Given the description of an element on the screen output the (x, y) to click on. 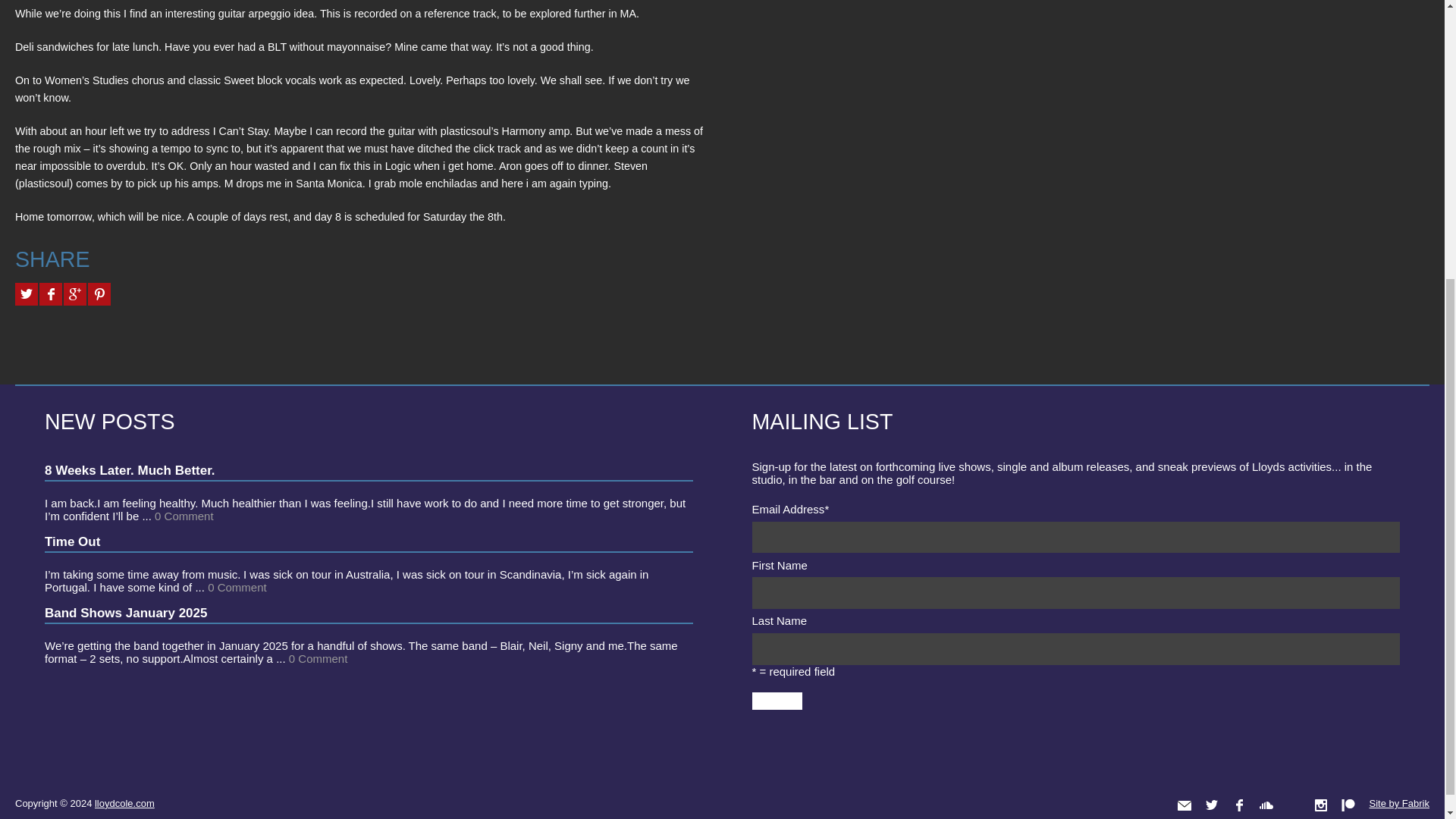
0 Comment (237, 586)
Submit (777, 701)
Share on Facebook (50, 293)
Site by Fabrik (1399, 803)
Tweet This (25, 293)
0 Comment (184, 514)
Submit (777, 701)
Pin it (98, 293)
0 Comment (317, 657)
lloydcole.com (124, 802)
8 Weeks Later. Much Better. (130, 469)
Band Shows January 2025 (125, 611)
Time Out (72, 540)
